Given the description of an element on the screen output the (x, y) to click on. 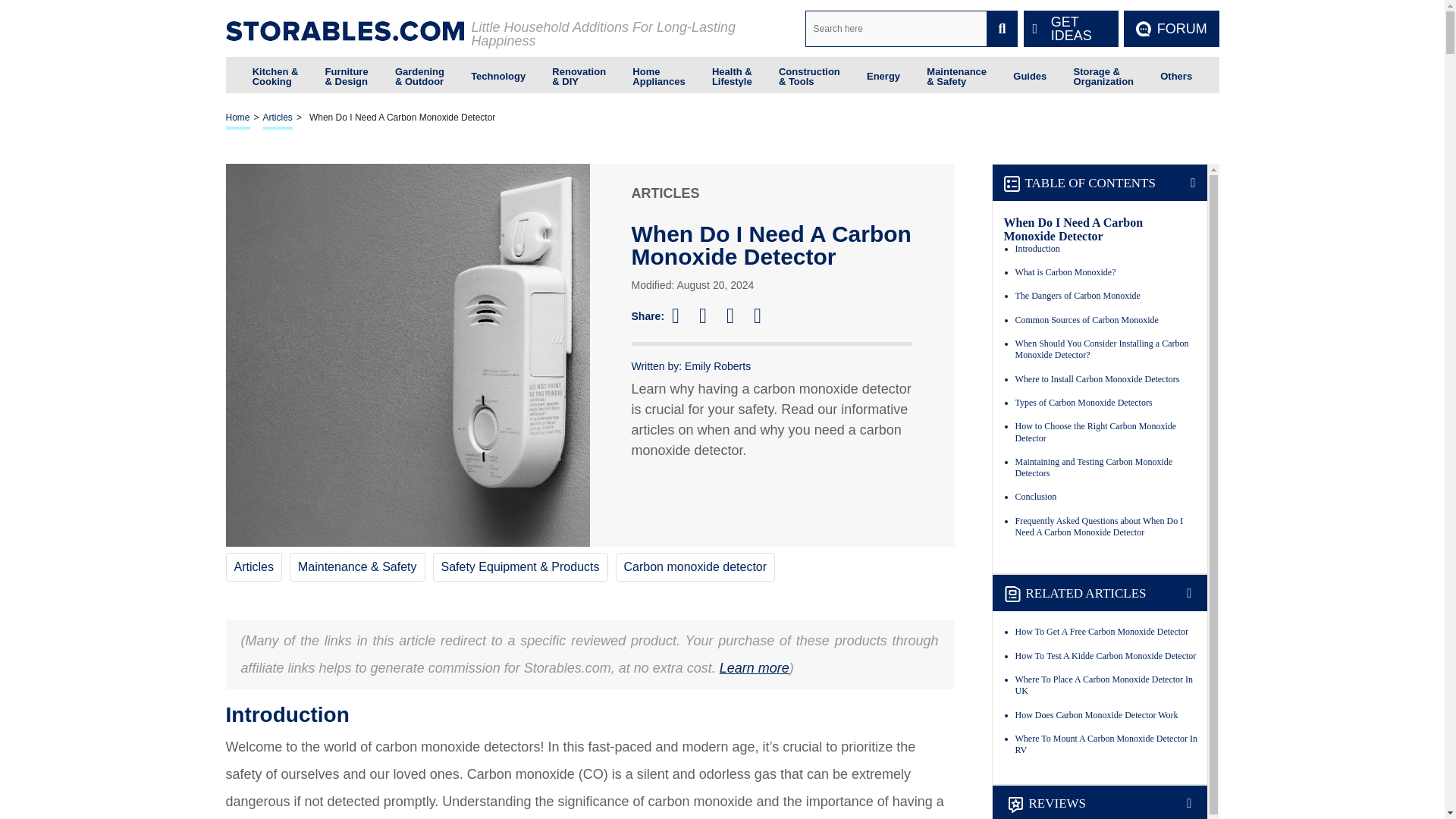
Share on WhatsApp (764, 315)
GET IDEAS (1070, 28)
FORUM (1171, 28)
Share on Facebook (682, 315)
Share on Pinterest (737, 315)
Share on Twitter (709, 315)
Technology (497, 74)
